Given the description of an element on the screen output the (x, y) to click on. 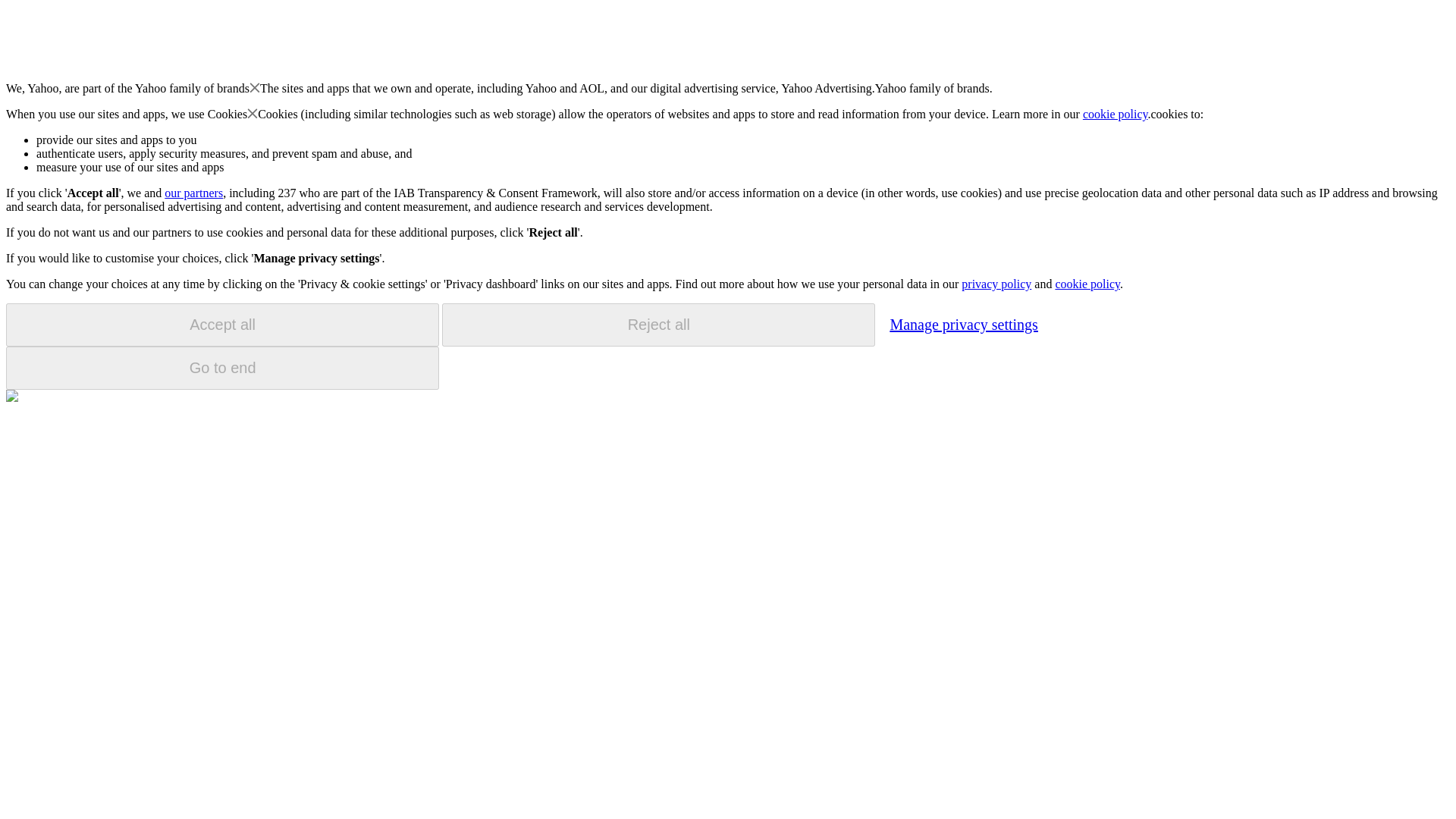
Reject all (658, 324)
Manage privacy settings (963, 323)
Accept all (222, 324)
Go to end (222, 367)
cookie policy (1086, 283)
cookie policy (1115, 113)
our partners (193, 192)
privacy policy (995, 283)
